Given the description of an element on the screen output the (x, y) to click on. 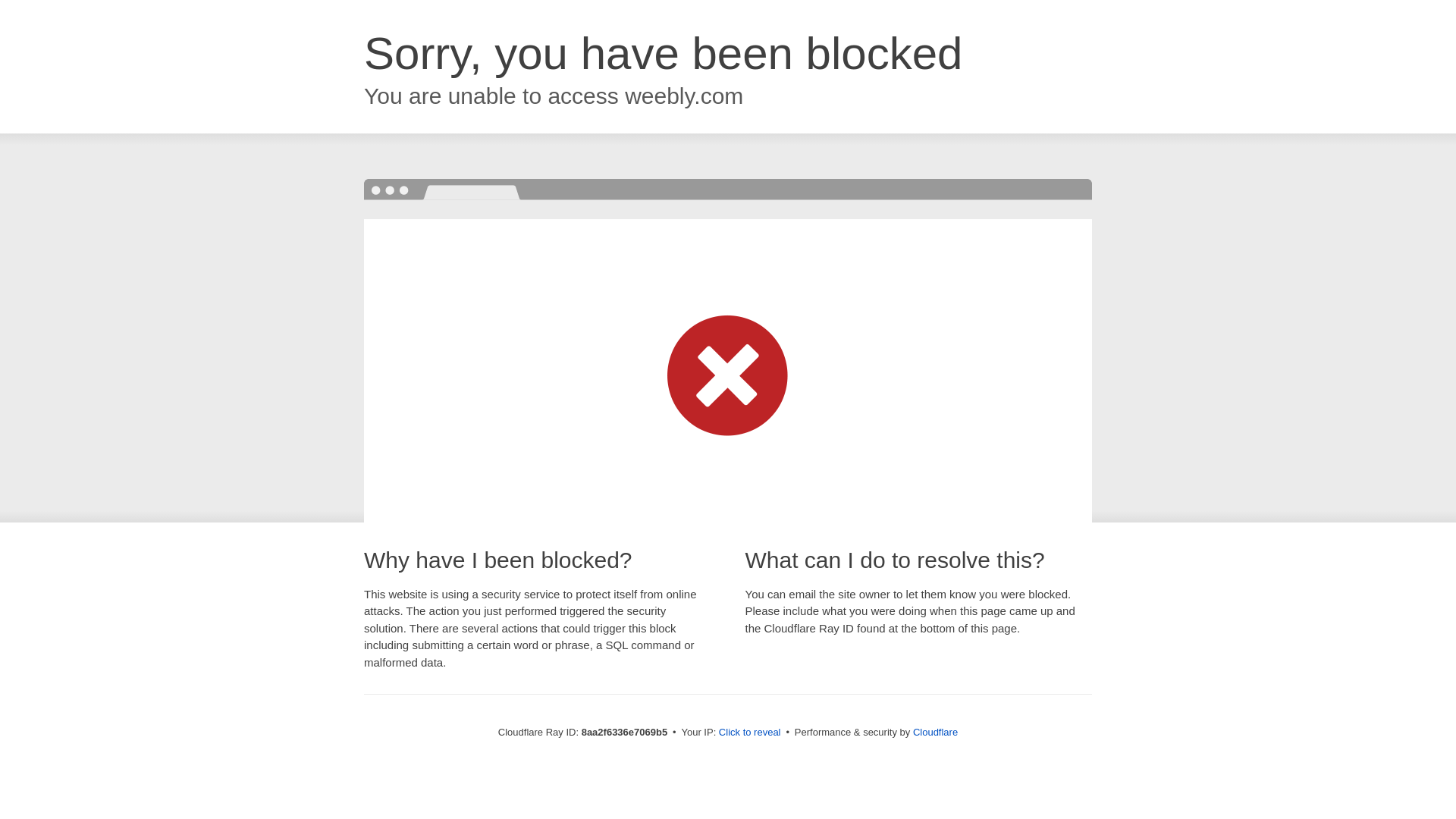
Cloudflare (935, 731)
Click to reveal (749, 732)
